Given the description of an element on the screen output the (x, y) to click on. 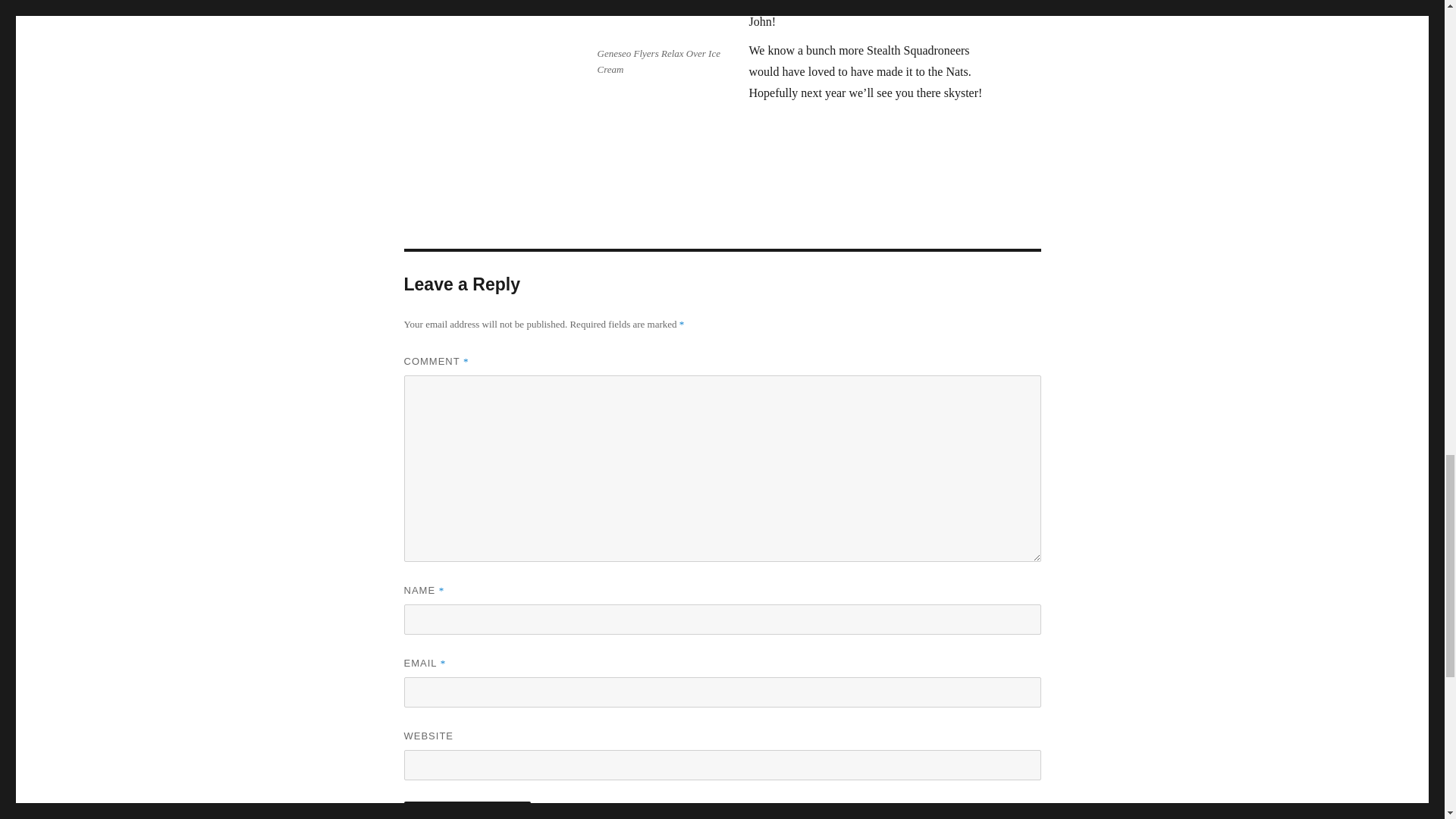
Post Comment (467, 810)
Post Comment (467, 810)
see the full FAC Nats 2022 collection HERE (861, 3)
